Given the description of an element on the screen output the (x, y) to click on. 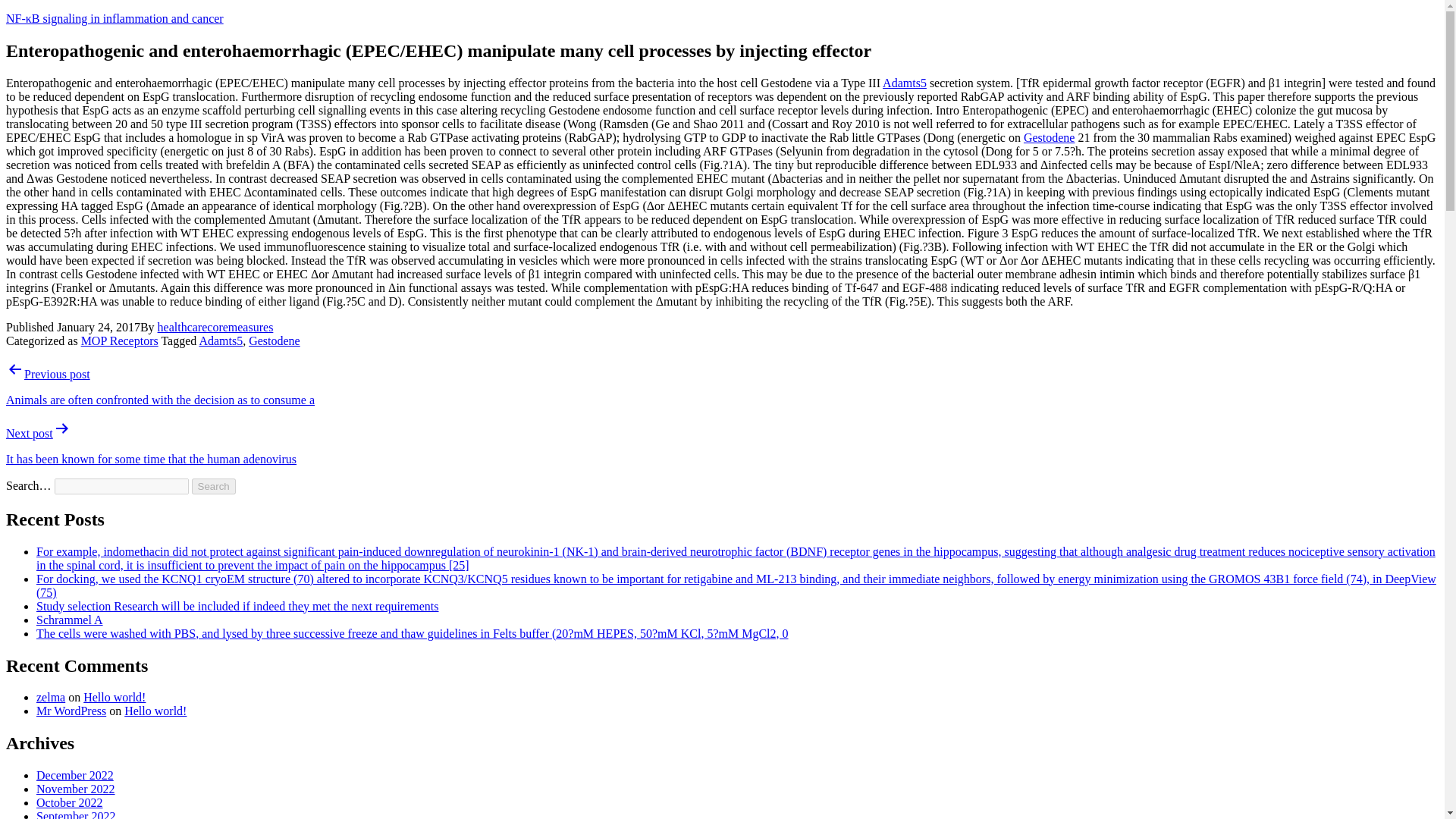
October 2022 (69, 802)
healthcarecoremeasures (215, 327)
Adamts5 (904, 82)
Hello world! (154, 710)
Mr WordPress (71, 710)
Adamts5 (220, 340)
zelma (50, 697)
Schrammel A (69, 619)
Search (213, 486)
December 2022 (74, 775)
September 2022 (75, 814)
Gestodene (273, 340)
Hello world! (113, 697)
